Given the description of an element on the screen output the (x, y) to click on. 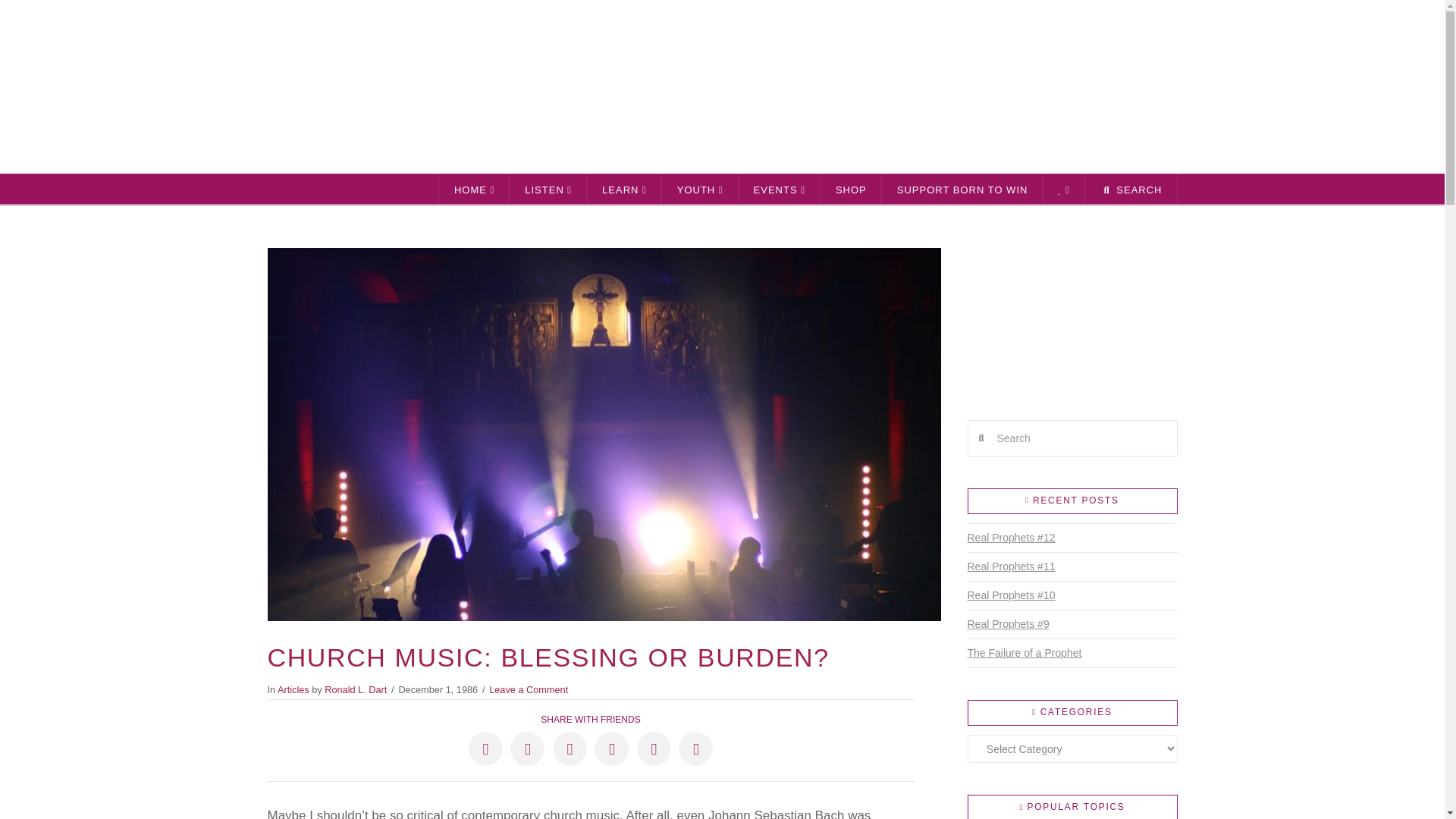
See how you can help this ministry grow. (962, 188)
YOUTH (700, 188)
View our audio series, free literature, and more. (851, 188)
EVENTS (779, 188)
SHOP (851, 188)
LISTEN (547, 188)
HOME (473, 188)
LEARN (624, 188)
SUPPORT BORN TO WIN (962, 188)
